Given the description of an element on the screen output the (x, y) to click on. 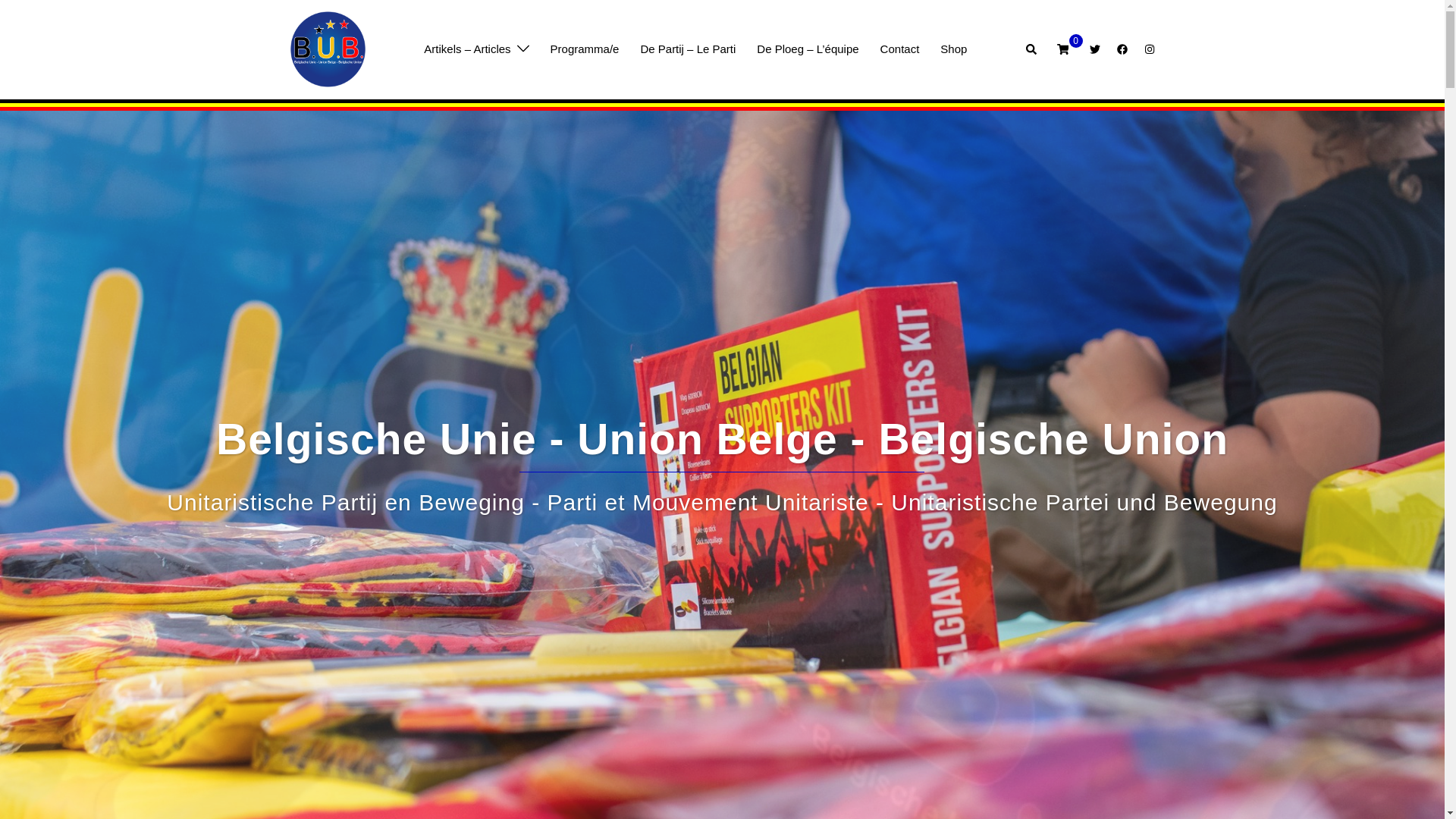
https://www.facebook.com/BelgUni Element type: text (1120, 47)
0 Element type: text (1063, 47)
Programma/e Element type: text (584, 48)
Search Element type: text (1031, 48)
Shop Element type: text (953, 48)
https://instagram.com/buboninsta Element type: text (1148, 47)
Contact Element type: text (899, 48)
https://twitter.com/bub_belg Element type: text (1093, 47)
